Given the description of an element on the screen output the (x, y) to click on. 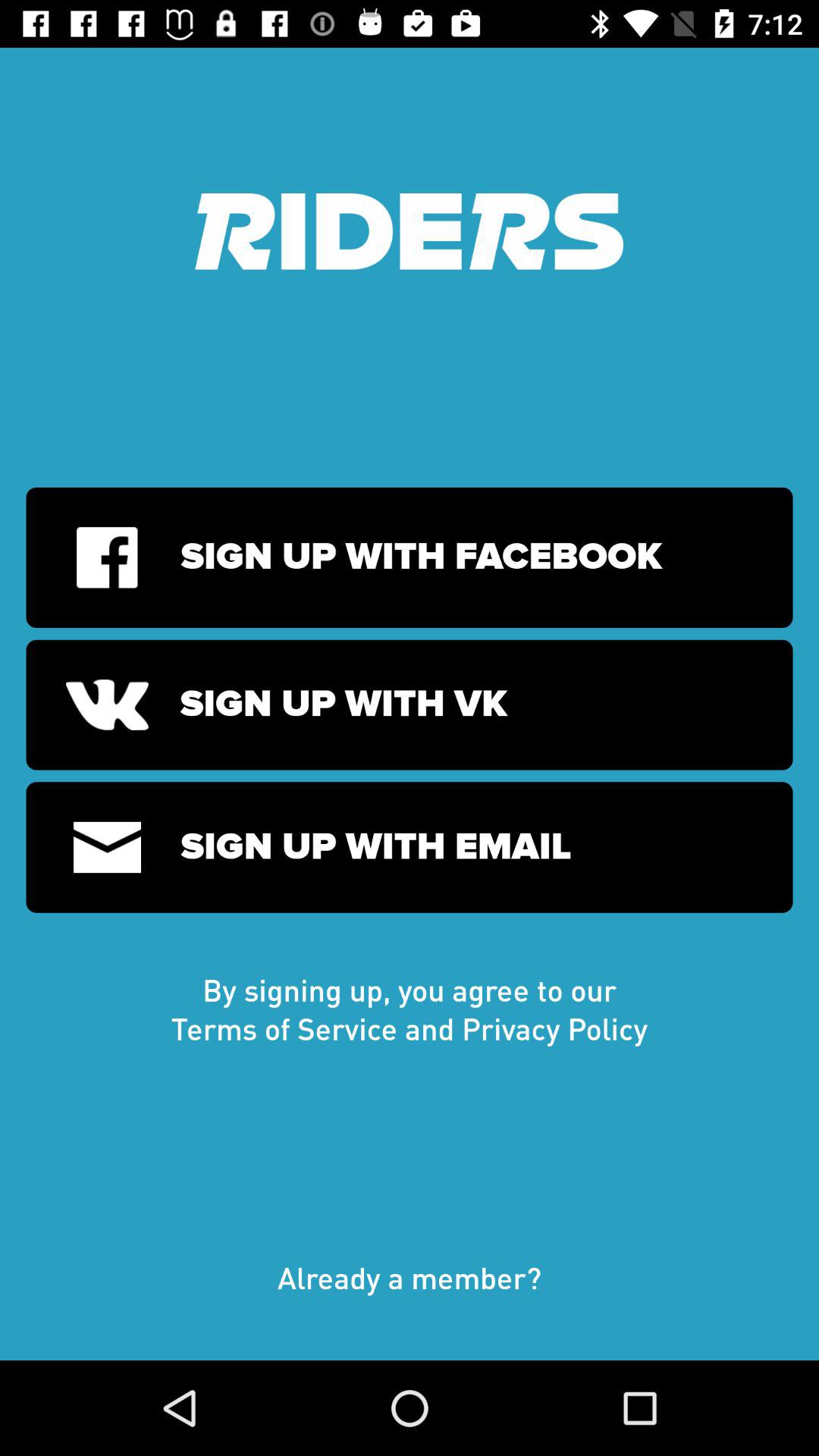
open already a member? item (409, 1293)
